Given the description of an element on the screen output the (x, y) to click on. 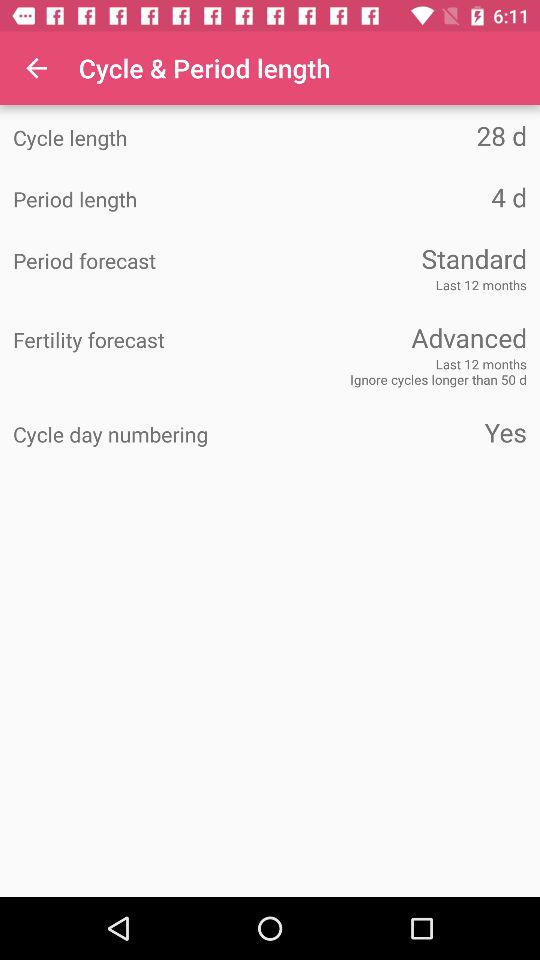
choose the icon below the last 12 months (398, 337)
